Given the description of an element on the screen output the (x, y) to click on. 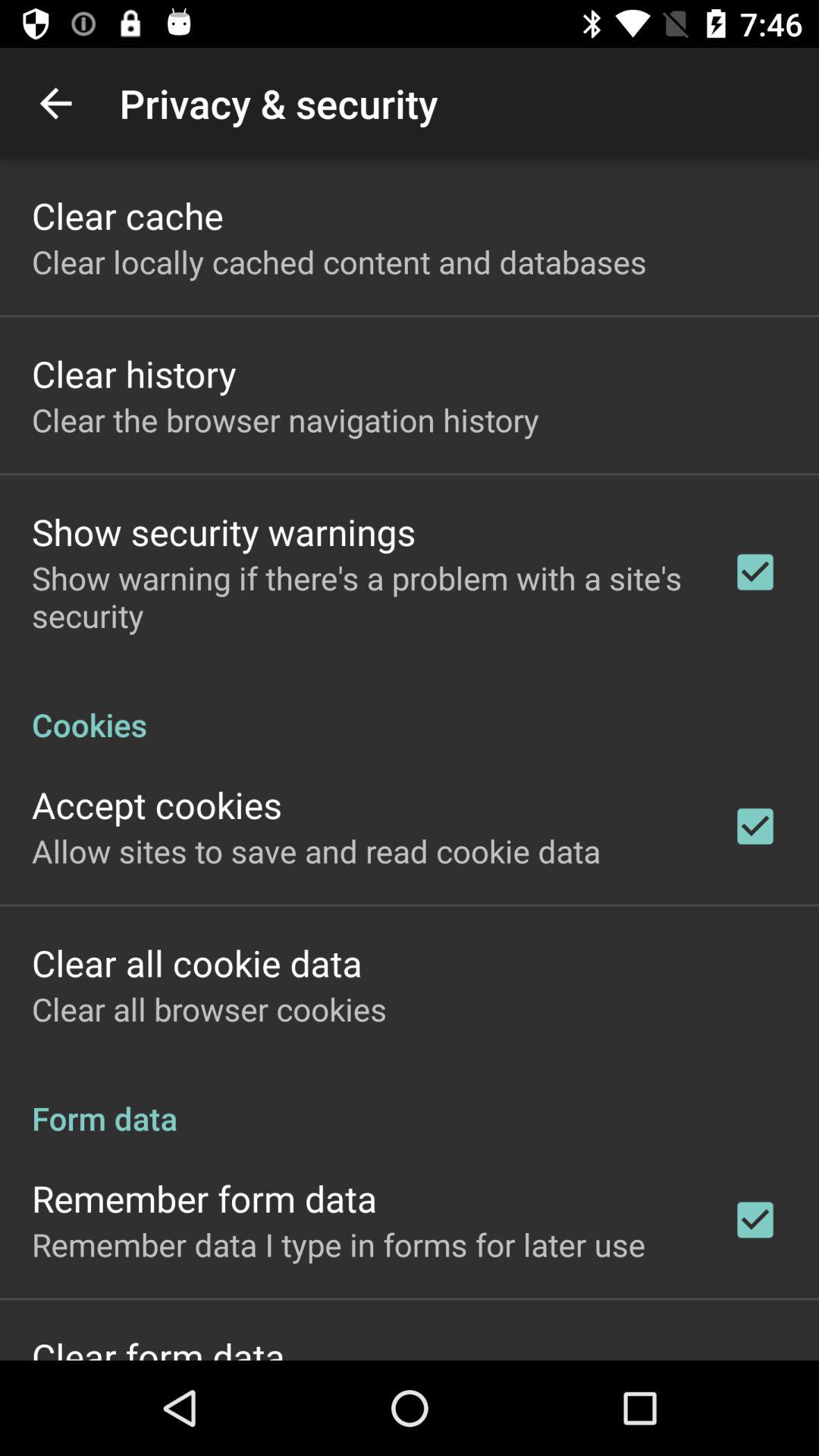
press app above the clear locally cached (127, 215)
